Given the description of an element on the screen output the (x, y) to click on. 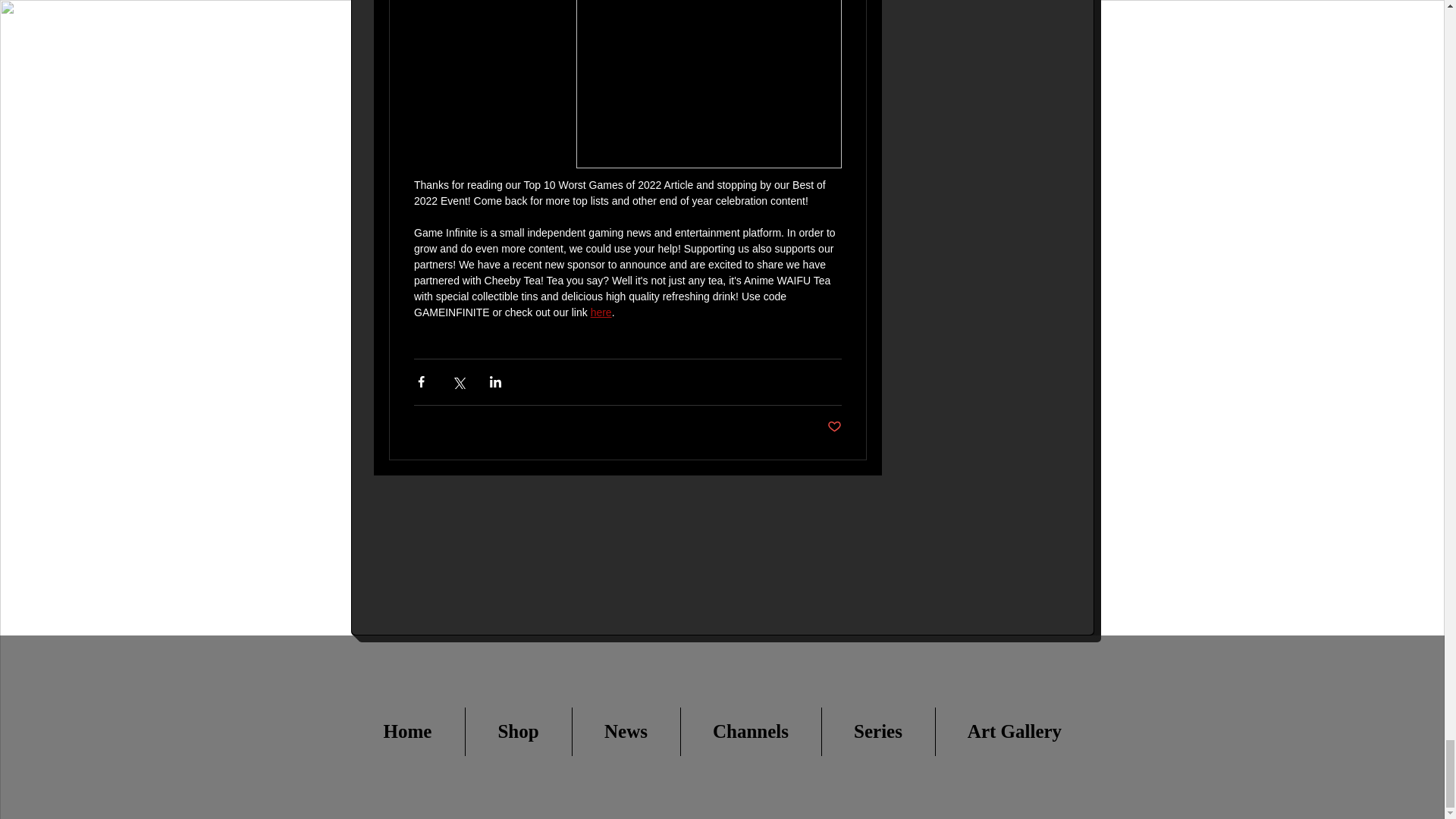
here (600, 312)
Post not marked as liked (834, 426)
